Given the description of an element on the screen output the (x, y) to click on. 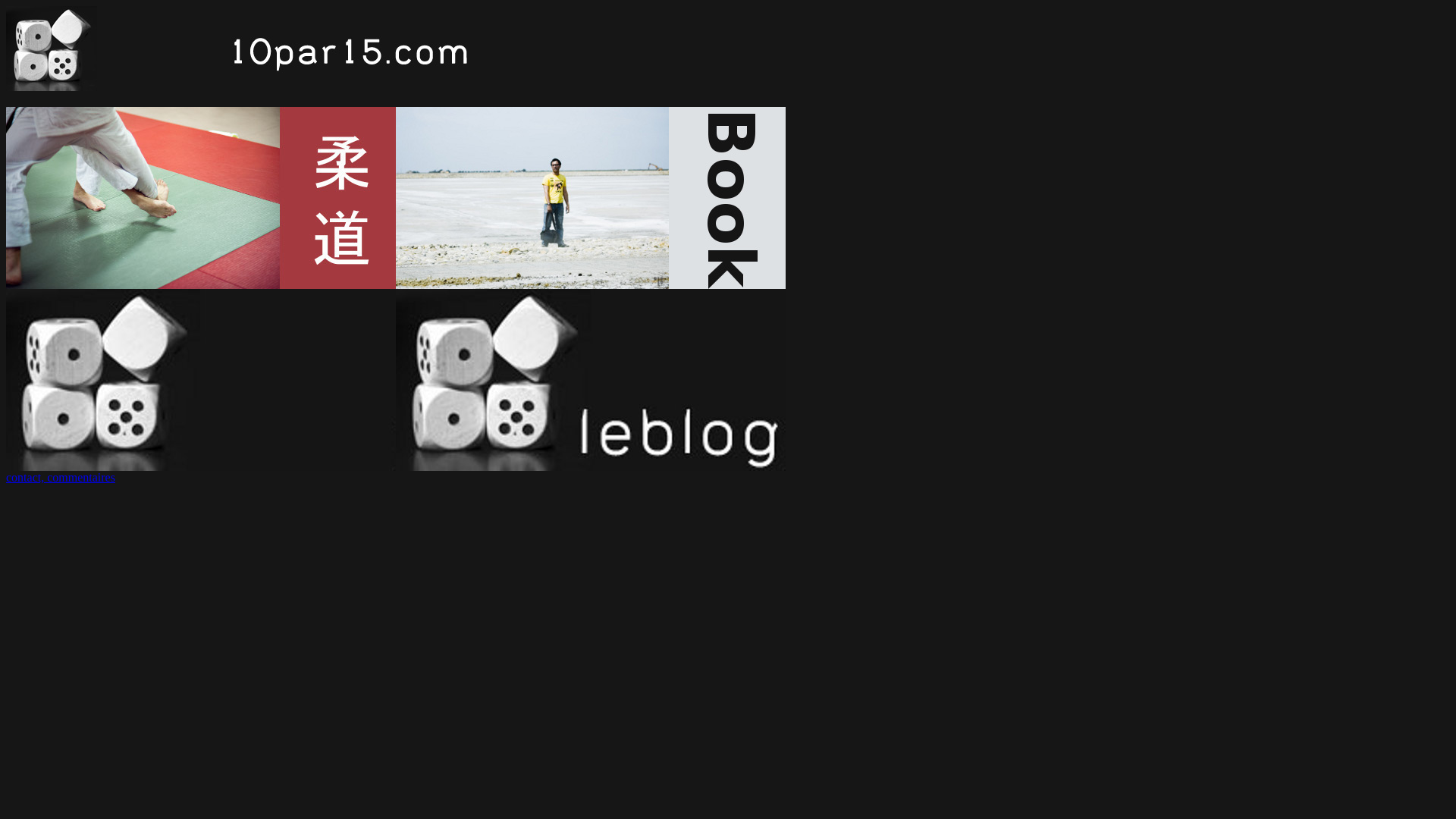
10par15 Element type: hover (299, 48)
contact, commentaires Element type: text (60, 476)
